Given the description of an element on the screen output the (x, y) to click on. 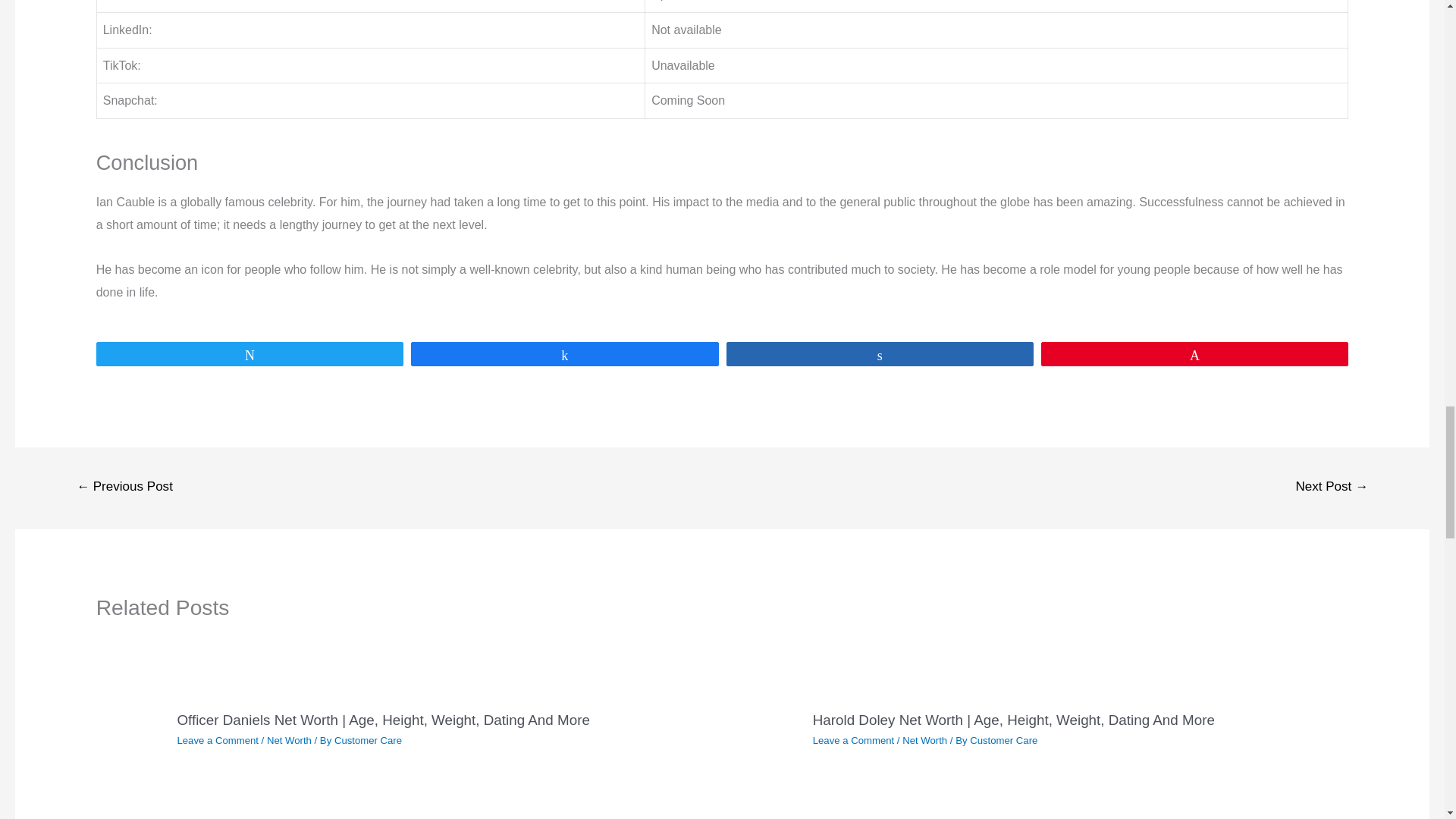
View all posts by Customer Care (1002, 740)
View all posts by Customer Care (367, 740)
